Given the description of an element on the screen output the (x, y) to click on. 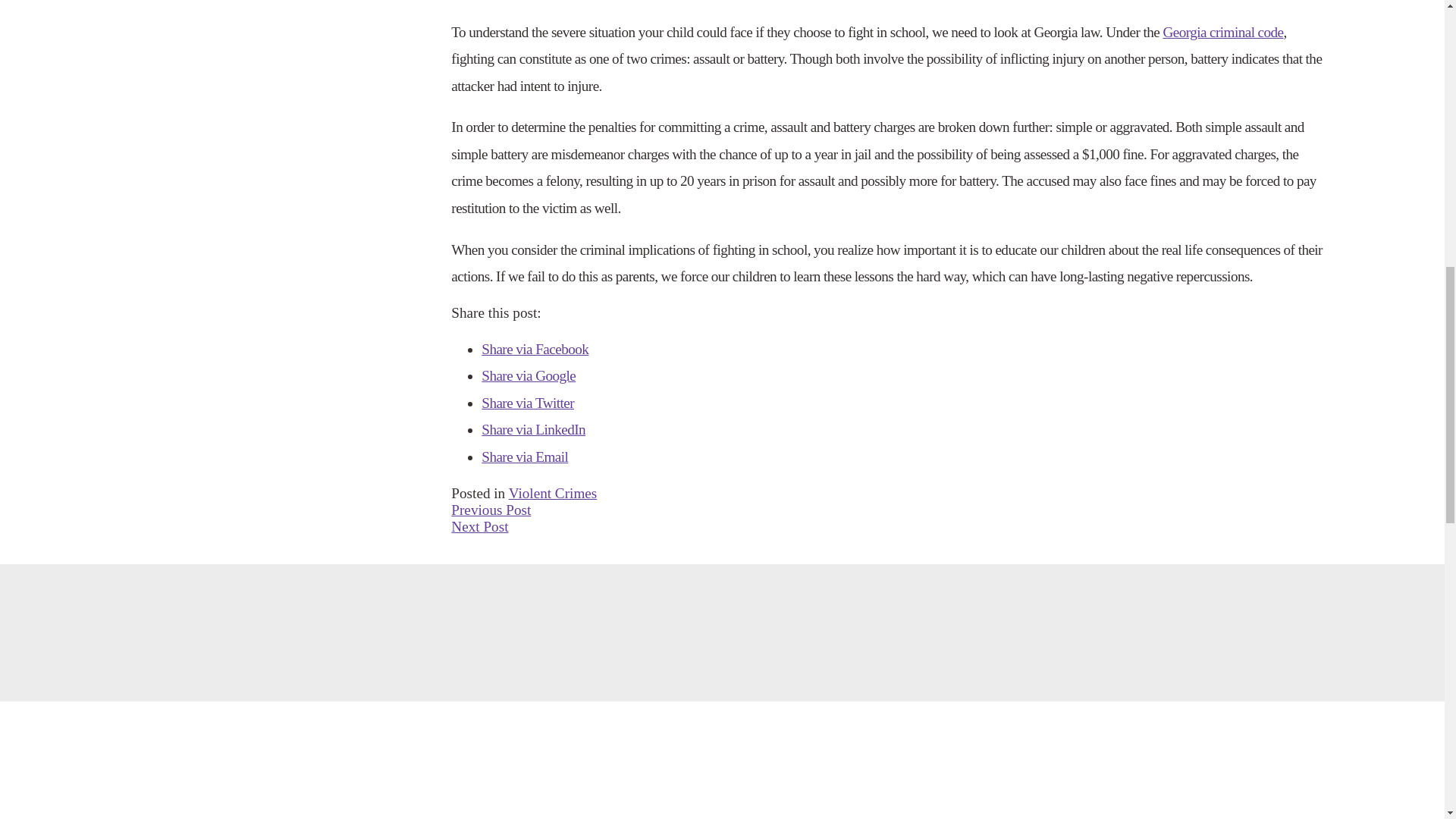
Share via Twitter (527, 402)
Share via Facebook (534, 349)
Share via LinkedIn (533, 429)
Share via Google (528, 375)
Share via Email (524, 456)
